Given the description of an element on the screen output the (x, y) to click on. 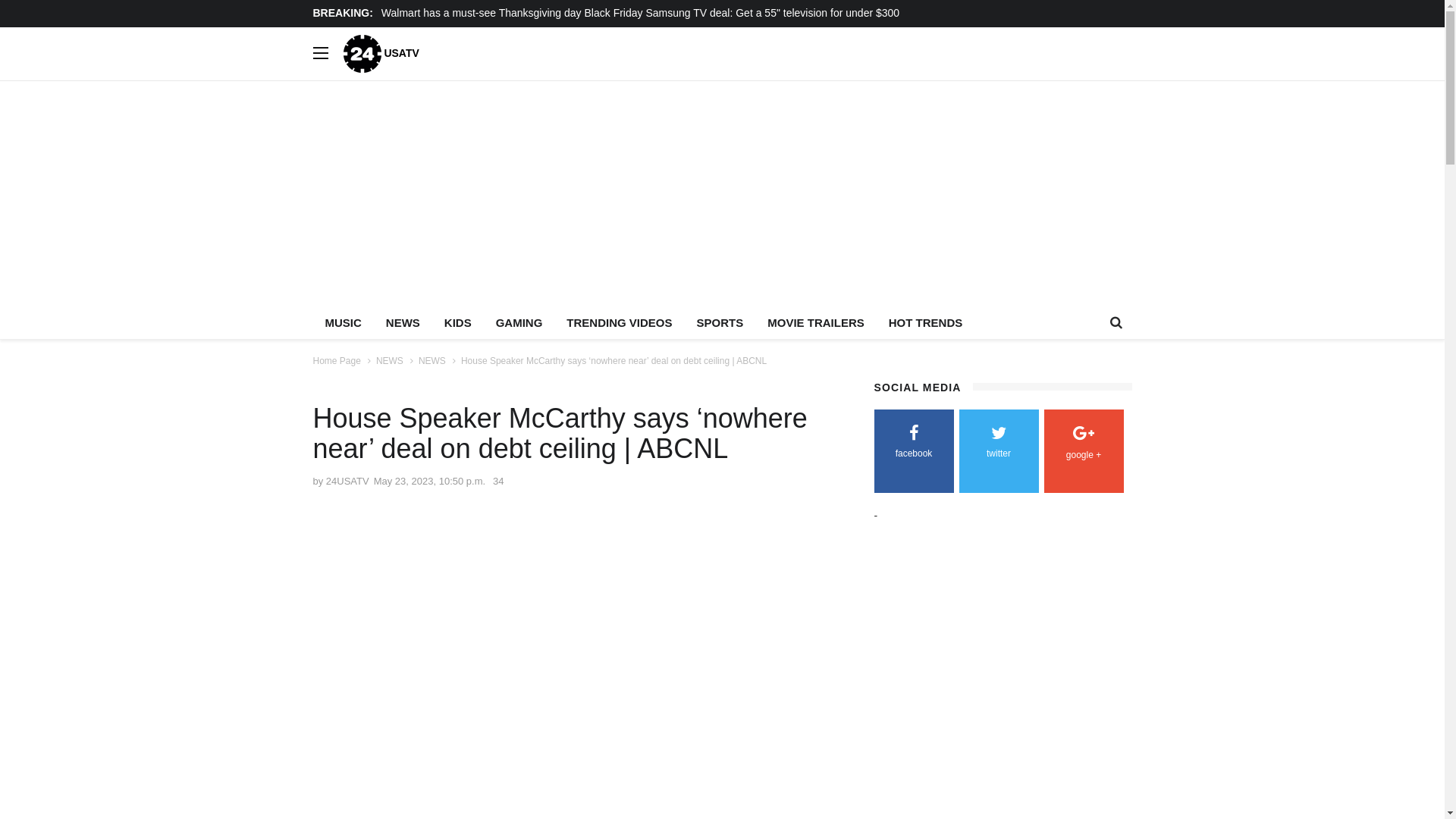
KIDS Element type: text (457, 322)
HOT TRENDS Element type: text (925, 322)
NEWS Element type: text (402, 322)
SPORTS Element type: text (720, 322)
Home Page Element type: text (336, 360)
Advertisement Element type: hover (767, 194)
Advertisement Element type: hover (756, 610)
facebook Element type: text (913, 444)
MOVIE TRAILERS Element type: text (815, 322)
twitter Element type: text (998, 444)
google + Element type: text (1083, 445)
TRENDING VIDEOS Element type: text (619, 322)
USATV Element type: text (380, 53)
NEWS Element type: text (431, 360)
GAMING Element type: text (519, 322)
MUSIC Element type: text (342, 322)
NEWS Element type: text (389, 360)
Advertisement Element type: hover (1000, 674)
